Given the description of an element on the screen output the (x, y) to click on. 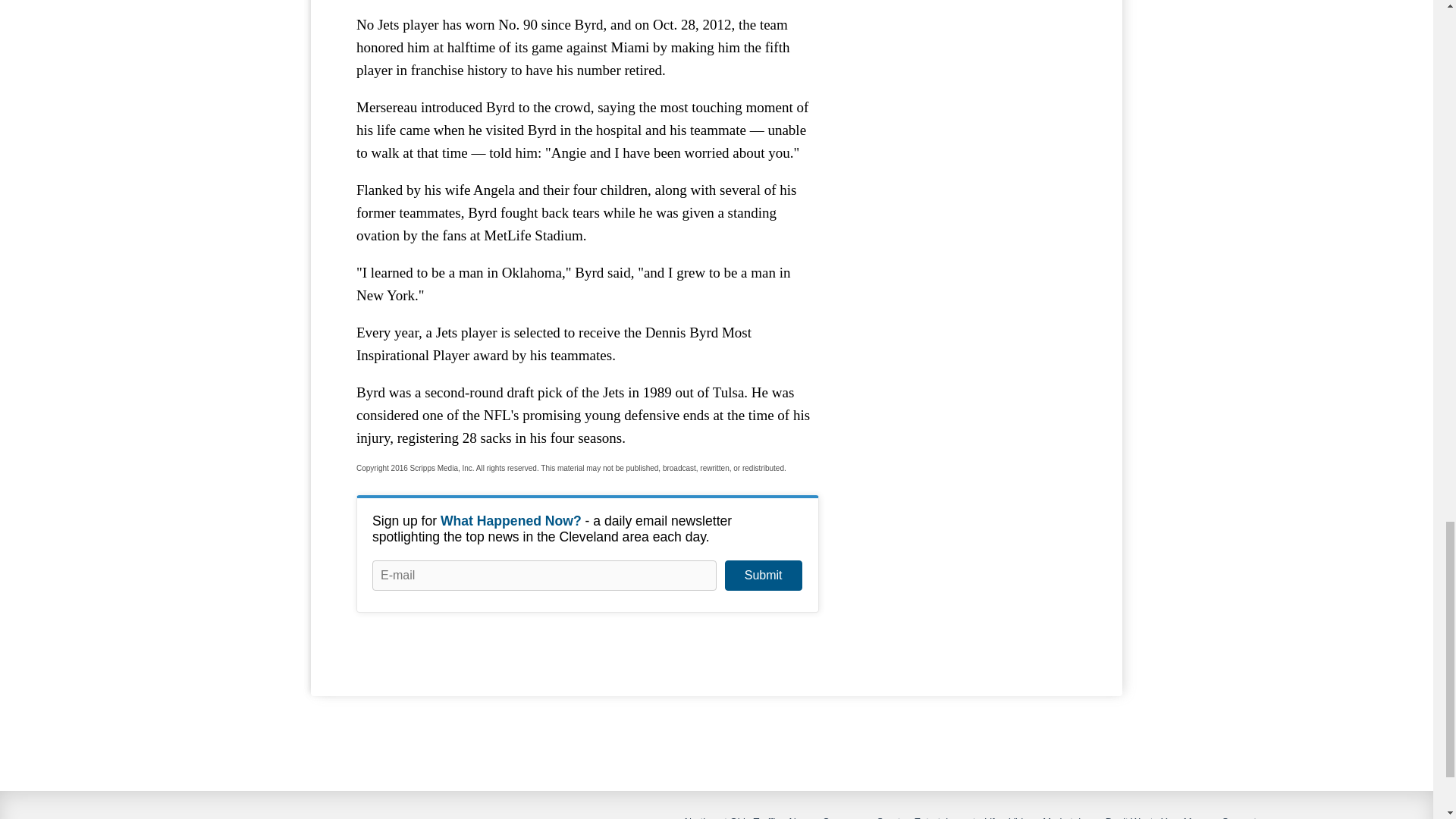
Submit (763, 575)
